Given the description of an element on the screen output the (x, y) to click on. 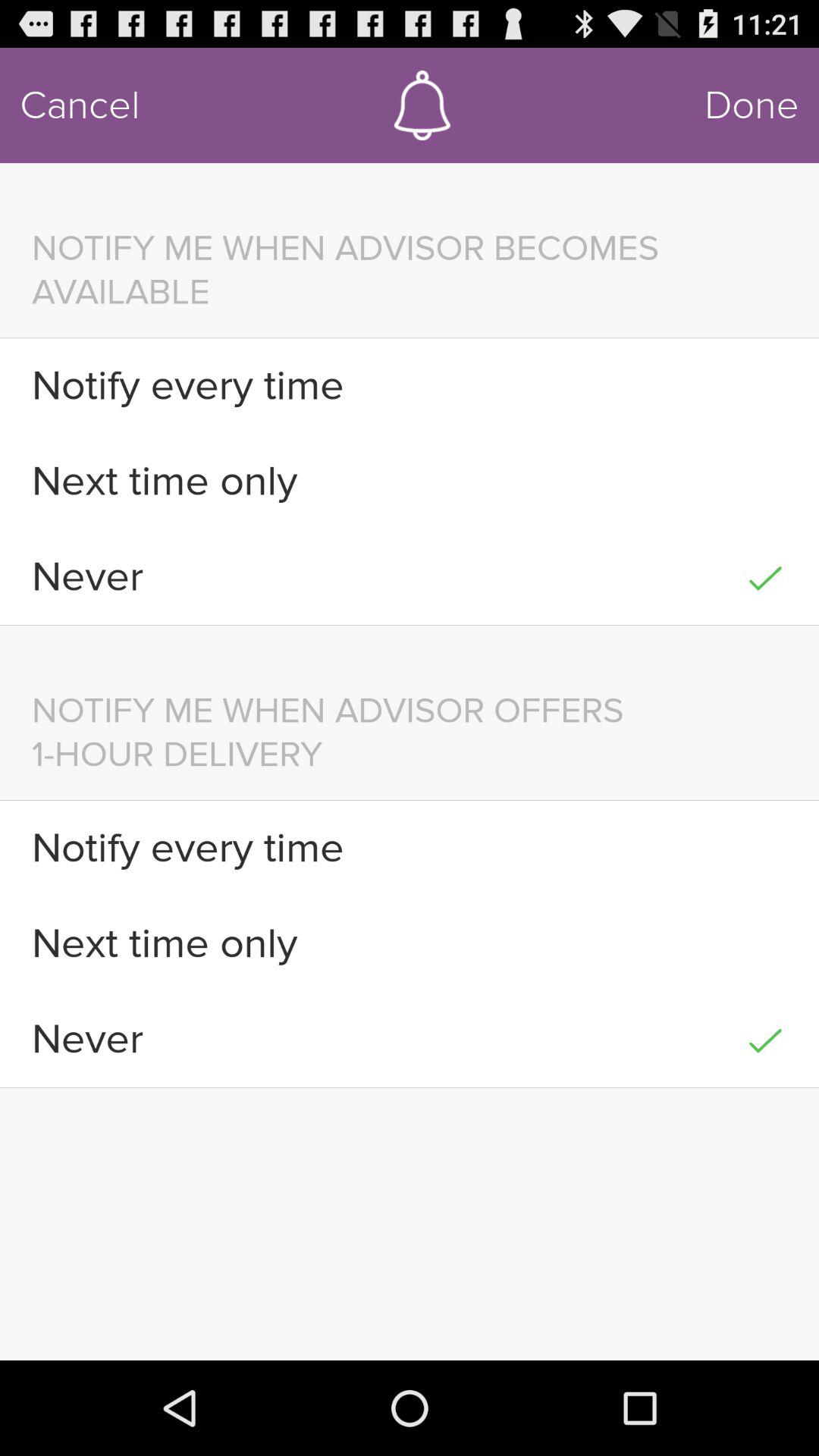
press the cancel at the top left corner (79, 105)
